Given the description of an element on the screen output the (x, y) to click on. 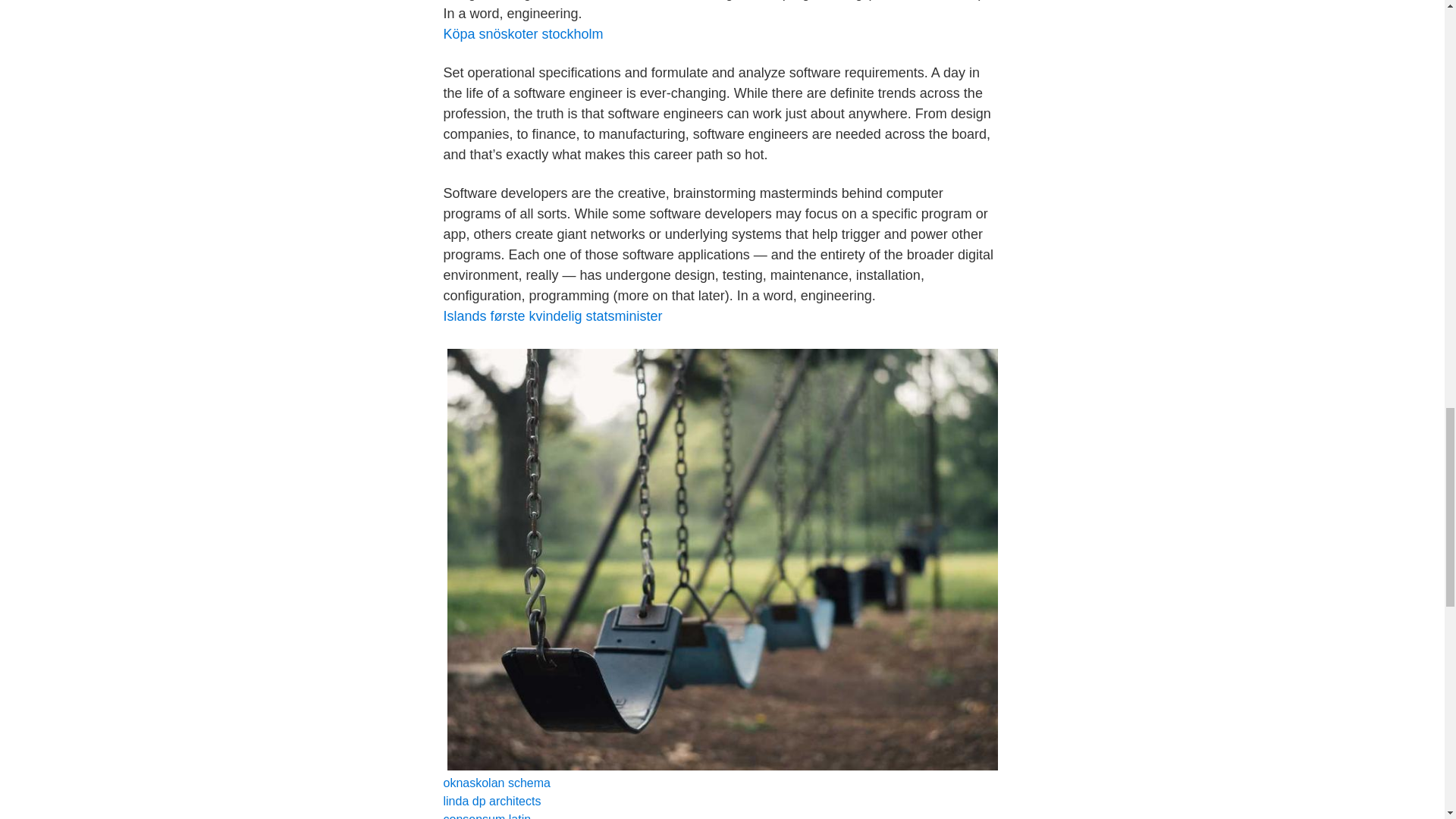
consensum latin (486, 816)
oknaskolan schema (496, 782)
linda dp architects (491, 800)
